Given the description of an element on the screen output the (x, y) to click on. 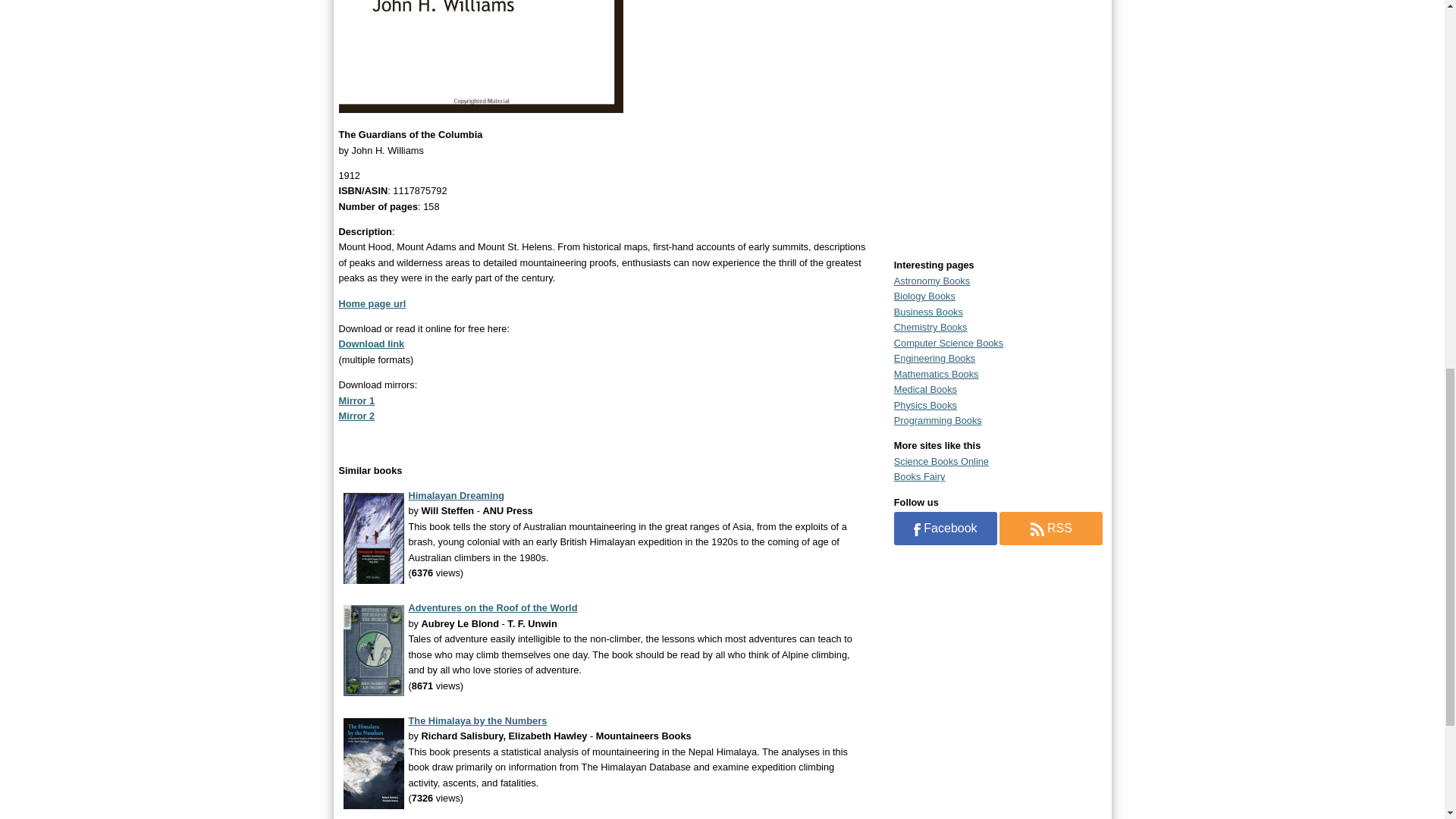
The Himalaya by the Numbers (477, 720)
Mirror 2 (355, 415)
Himalayan Dreaming (455, 495)
Home page url (371, 303)
Download link (370, 343)
Adventures on the Roof of the World (491, 607)
Mirror 1 (355, 400)
